Given the description of an element on the screen output the (x, y) to click on. 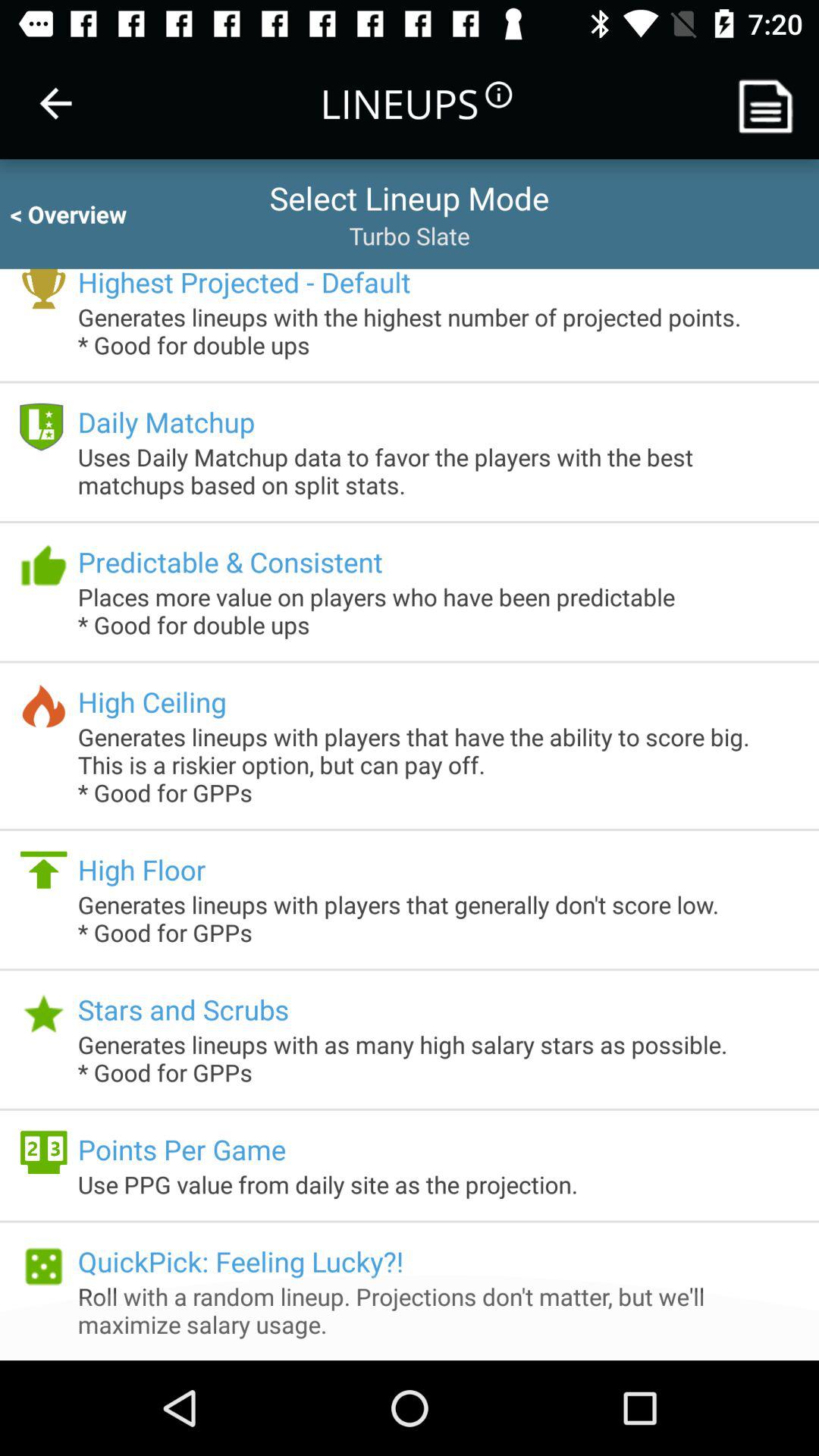
jump until the < overview item (81, 214)
